Given the description of an element on the screen output the (x, y) to click on. 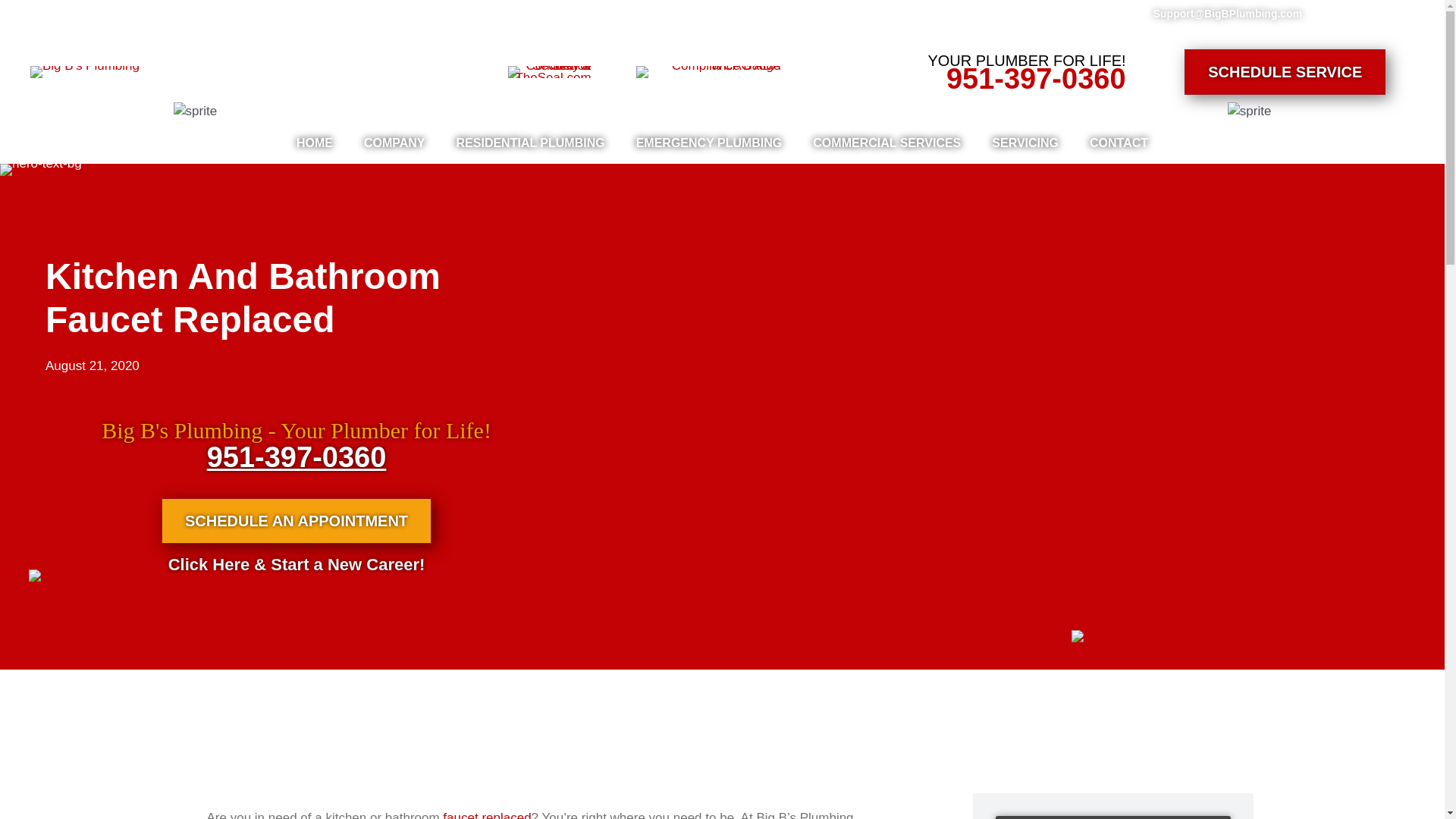
HOME (314, 143)
RESIDENTIAL PLUMBING (530, 143)
COMPANY (395, 143)
 951-397-0360 (296, 457)
951-397-0360 (1035, 79)
SCHEDULE SERVICE (1285, 72)
951-397-0360 (1035, 79)
